Given the description of an element on the screen output the (x, y) to click on. 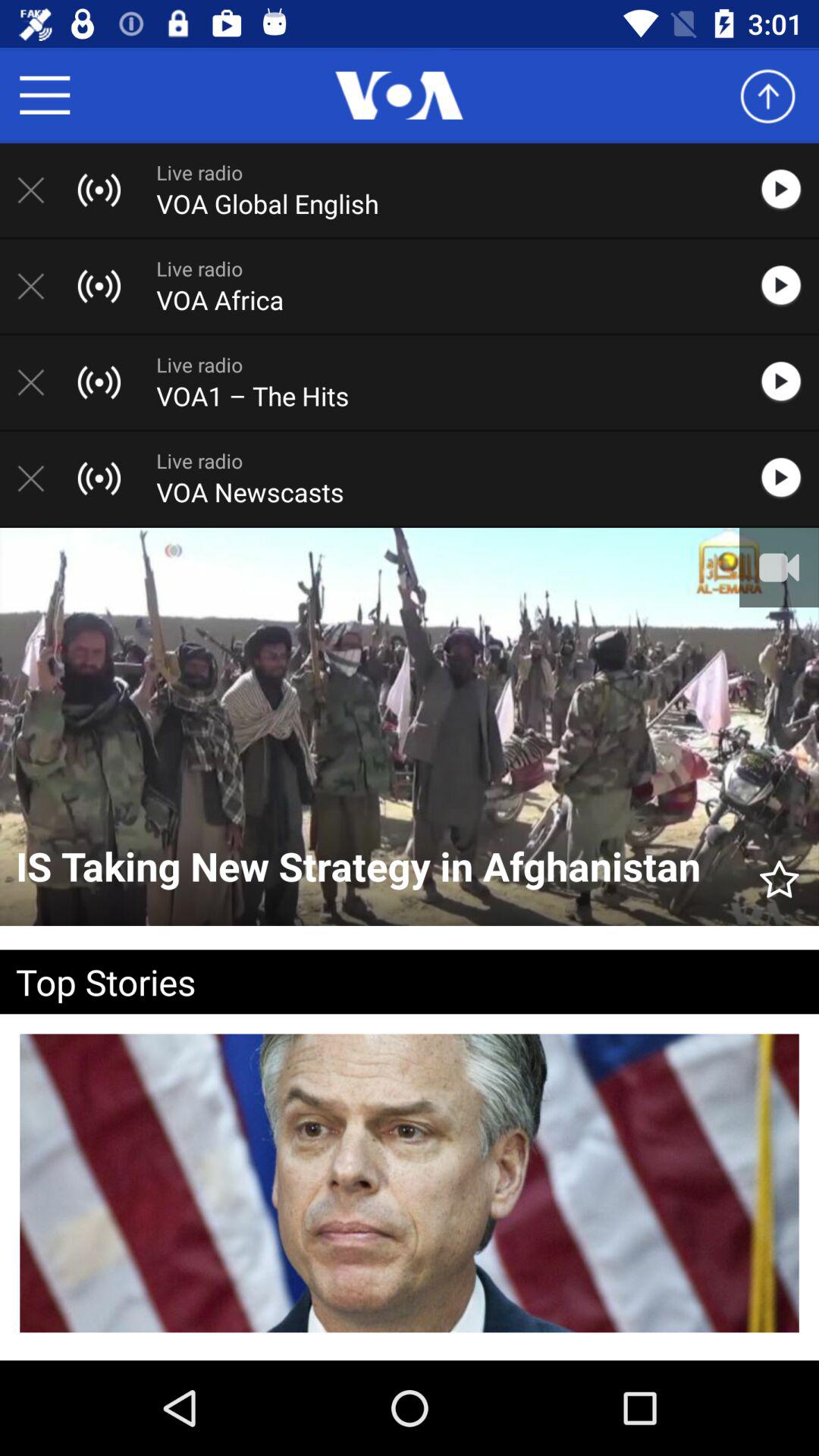
delete selection (38, 382)
